Given the description of an element on the screen output the (x, y) to click on. 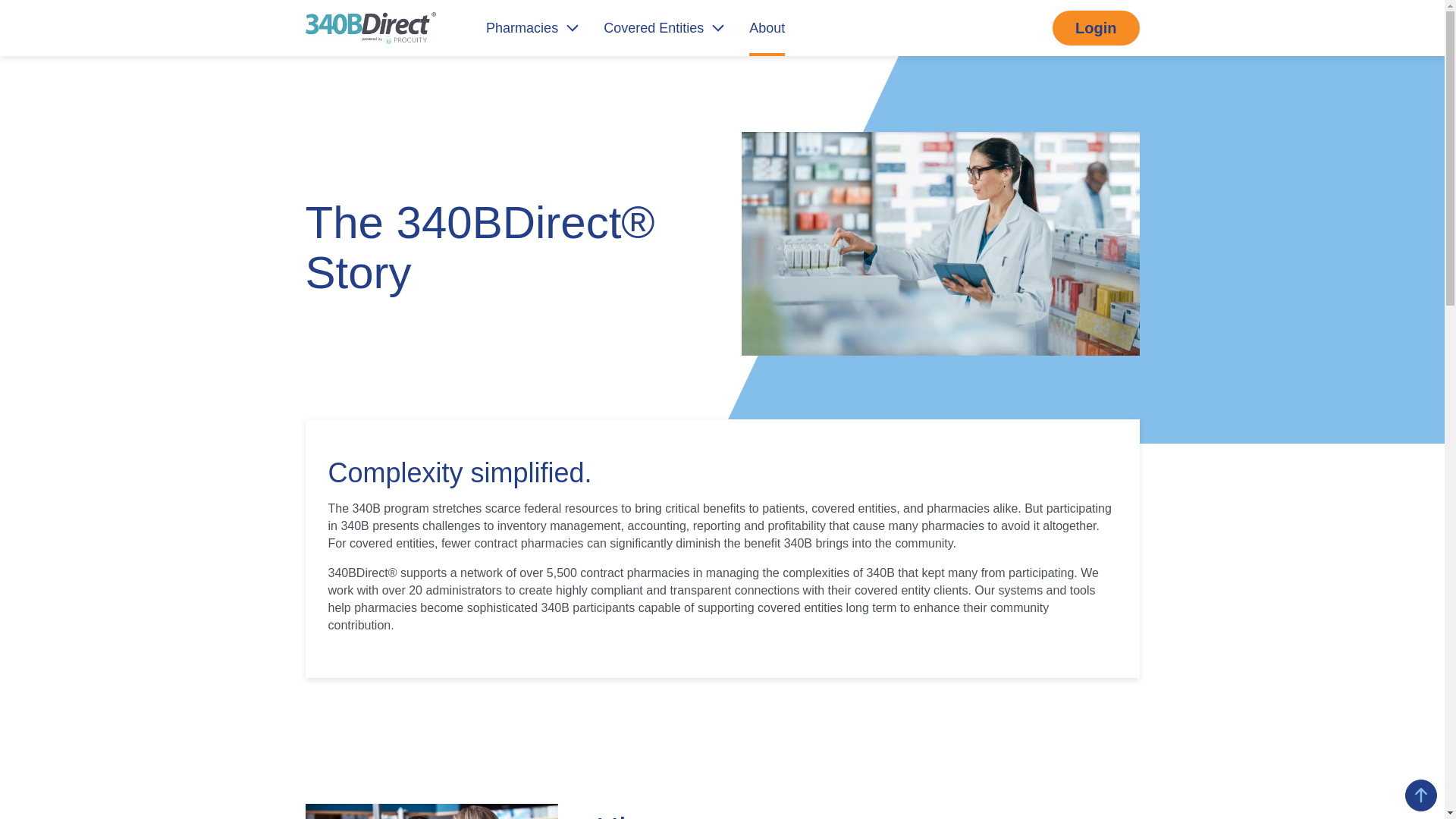
Covered Entities Element type: text (664, 28)
Login Element type: text (1095, 28)
About
(current) Element type: text (767, 28)
Pharmacies Element type: text (532, 28)
